Given the description of an element on the screen output the (x, y) to click on. 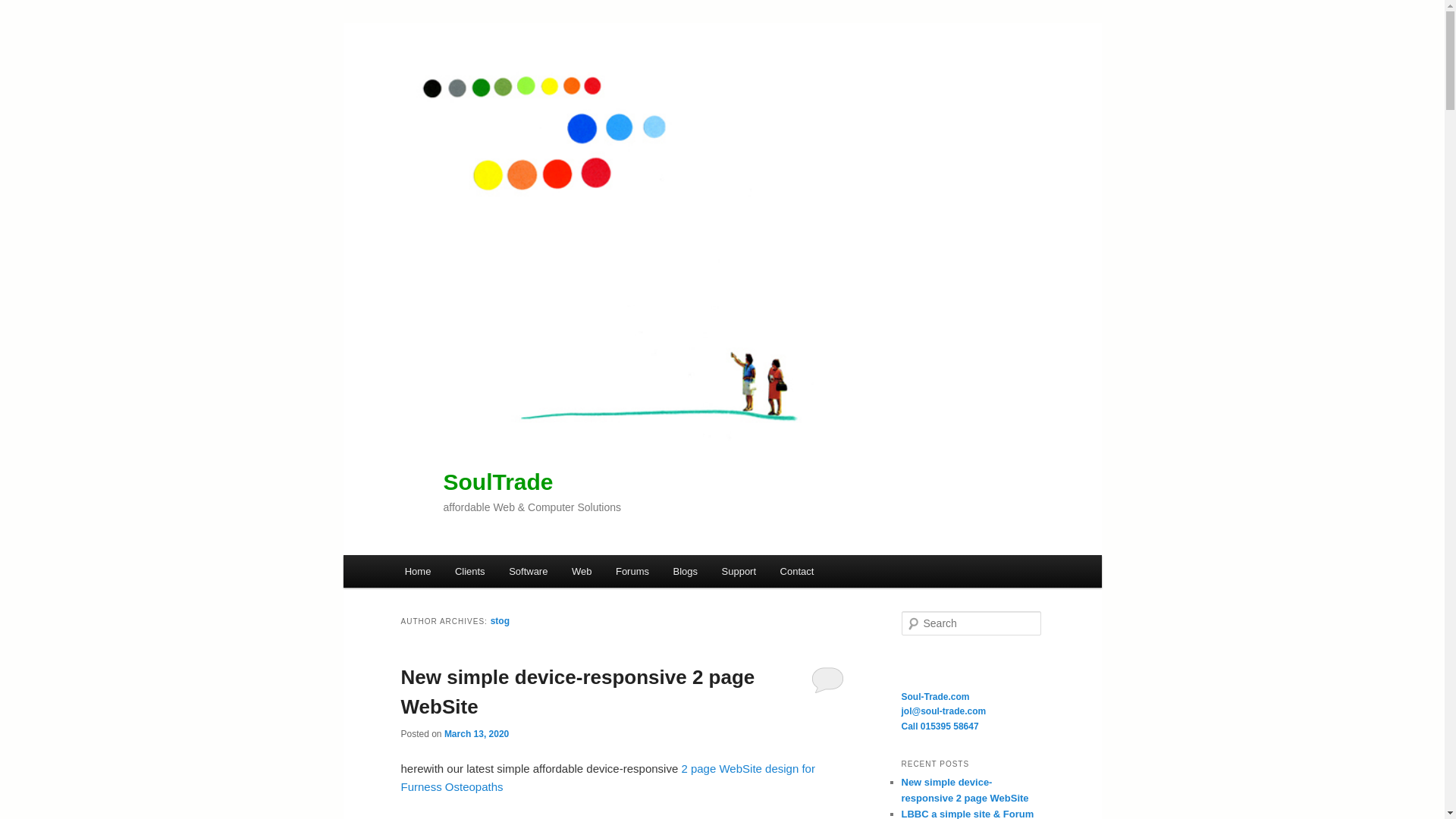
Clients (469, 571)
SoulTrade (497, 481)
10:48 am (476, 733)
stog (499, 620)
Home (417, 571)
Software (527, 571)
Web (581, 571)
SoulTrade (497, 481)
